Given the description of an element on the screen output the (x, y) to click on. 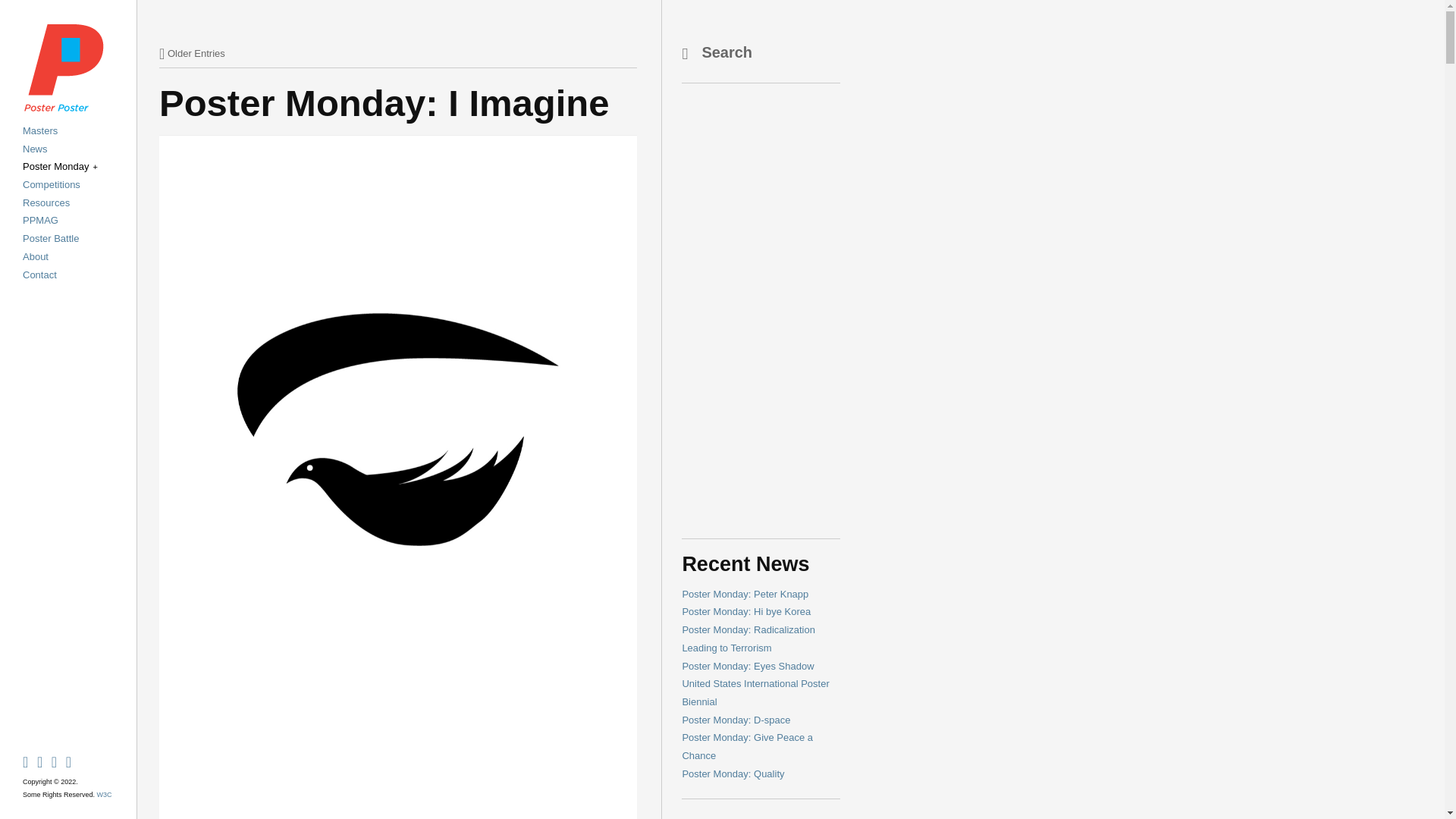
Poster Monday (60, 165)
Masters (40, 130)
Poster Battle (50, 238)
About (35, 256)
News (35, 148)
Older Entries (191, 52)
W3C (104, 794)
PPMAG (40, 220)
Contact (39, 274)
Competitions (51, 184)
